Given the description of an element on the screen output the (x, y) to click on. 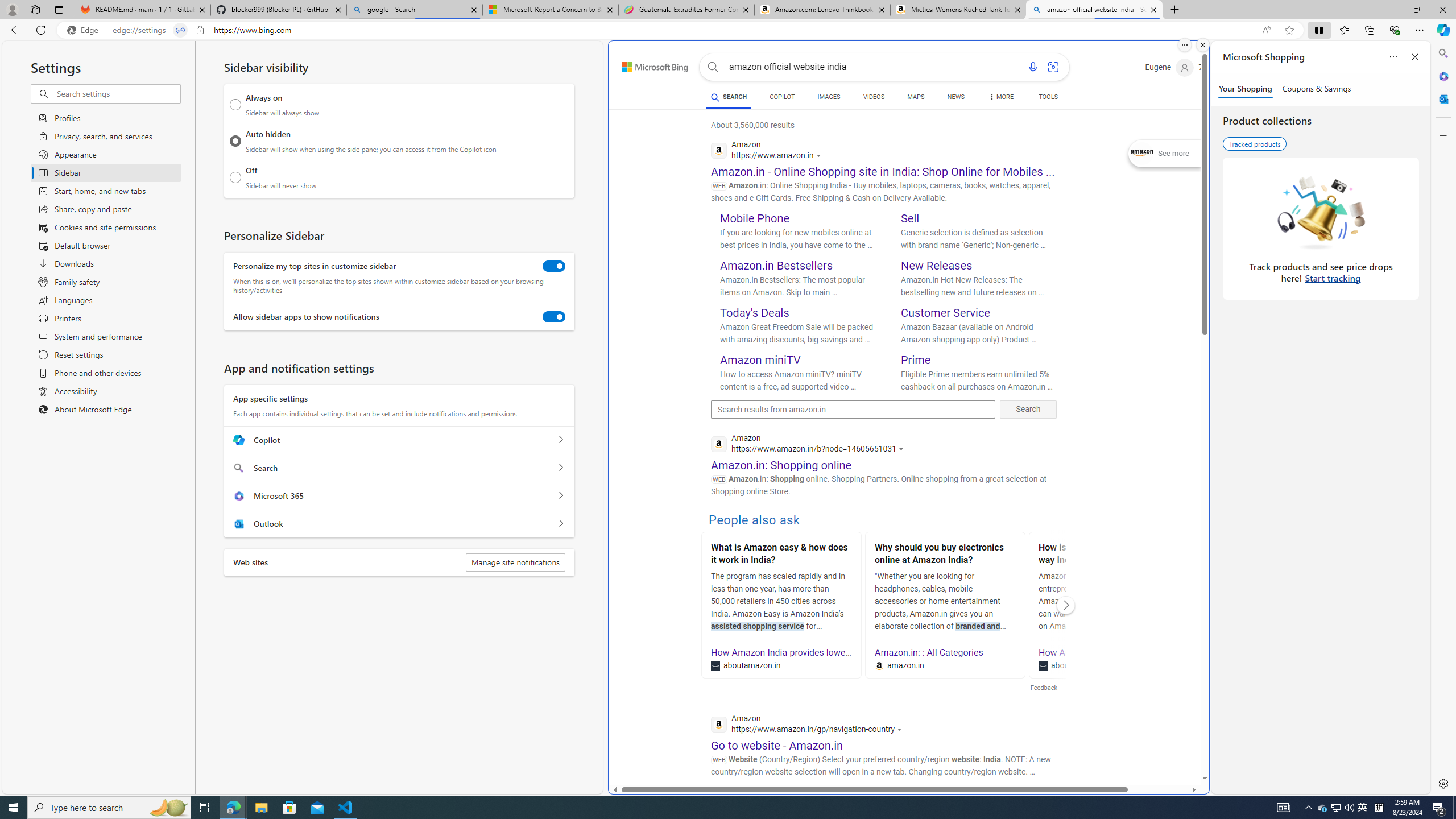
Expand (1142, 153)
Customer Service (945, 312)
amazon official website india - Search (1094, 9)
Search results from amazon.in (852, 409)
Back to Bing search (648, 64)
Search using voice (1032, 66)
TOOLS (1048, 98)
